Given the description of an element on the screen output the (x, y) to click on. 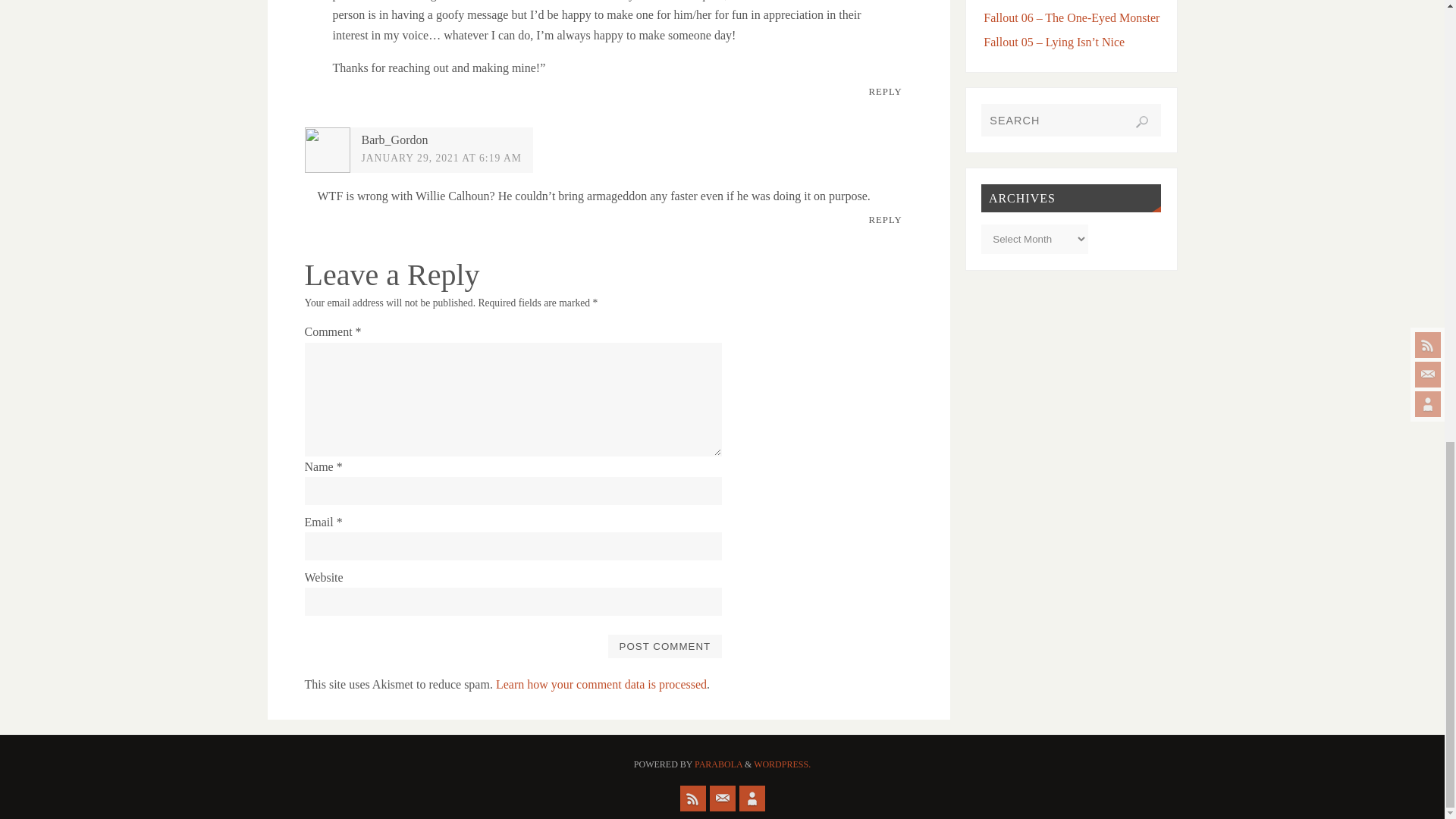
JANUARY 29, 2021 AT 6:19 AM (441, 157)
REPLY (885, 92)
Post Comment (664, 645)
REPLY (885, 220)
